Given the description of an element on the screen output the (x, y) to click on. 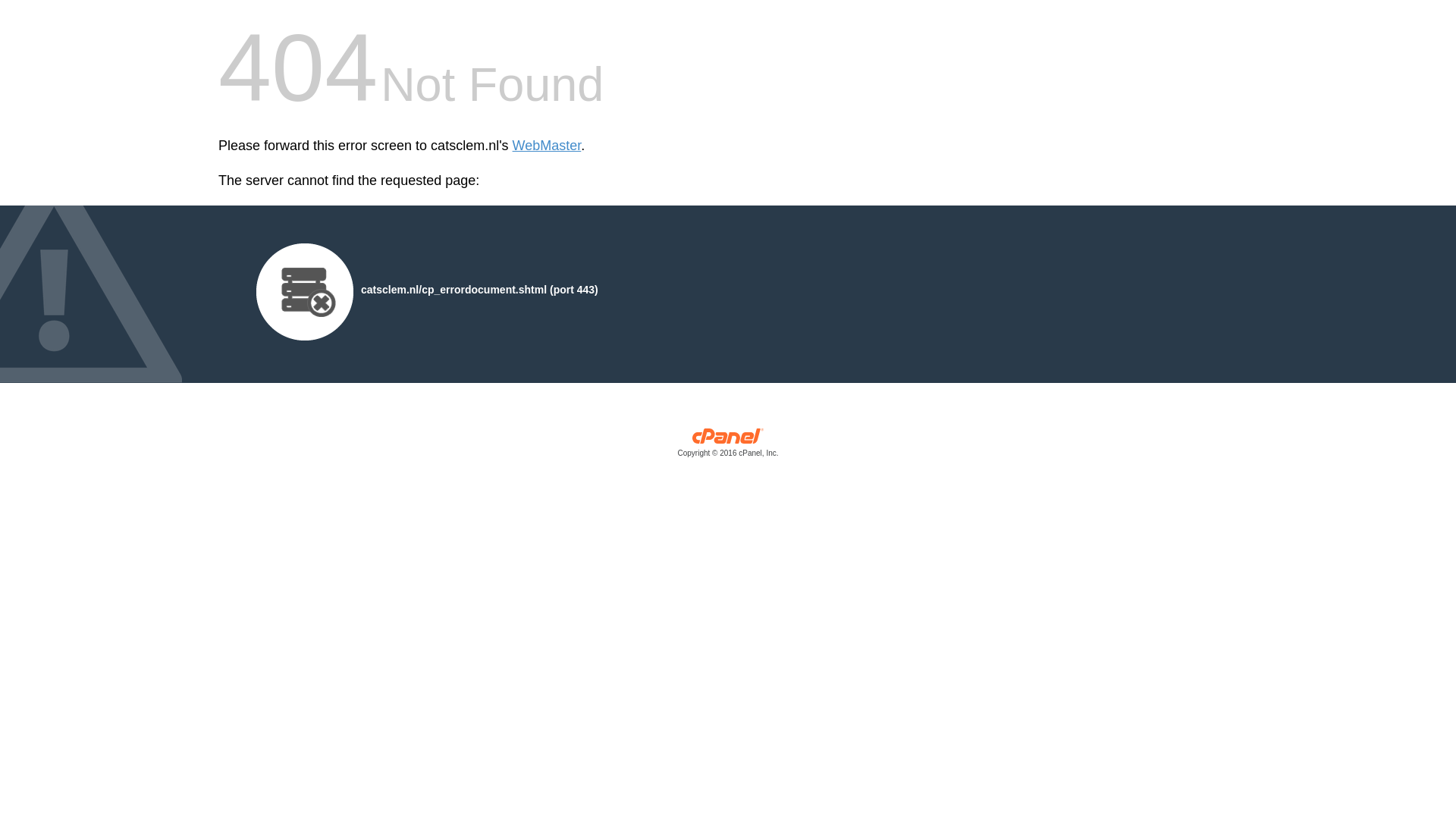
WebMaster (546, 145)
cPanel, Inc. (727, 446)
